Given the description of an element on the screen output the (x, y) to click on. 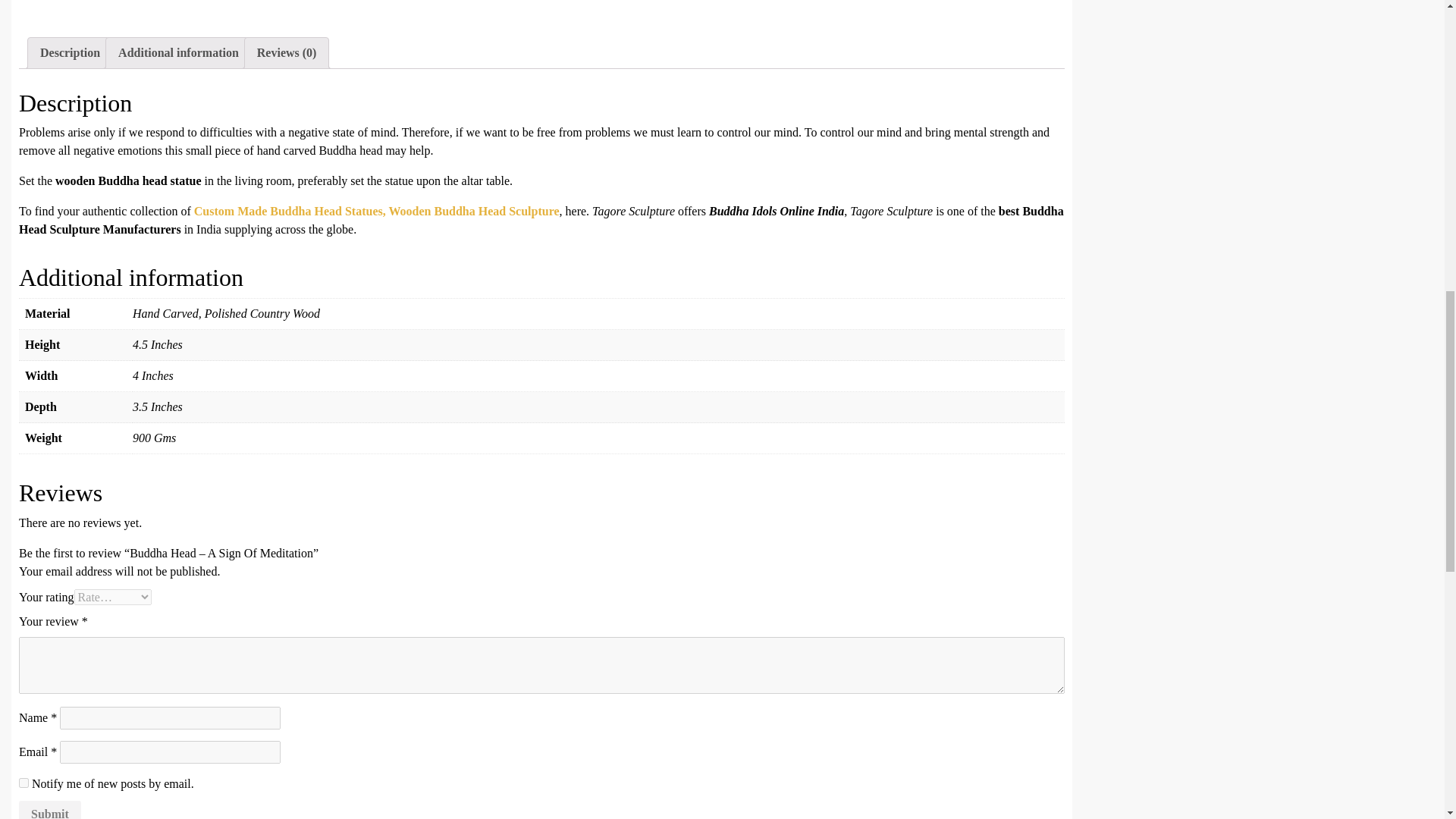
Submit (49, 809)
subscribe (23, 782)
Additional information (177, 52)
Description (70, 52)
Submit (49, 809)
